Given the description of an element on the screen output the (x, y) to click on. 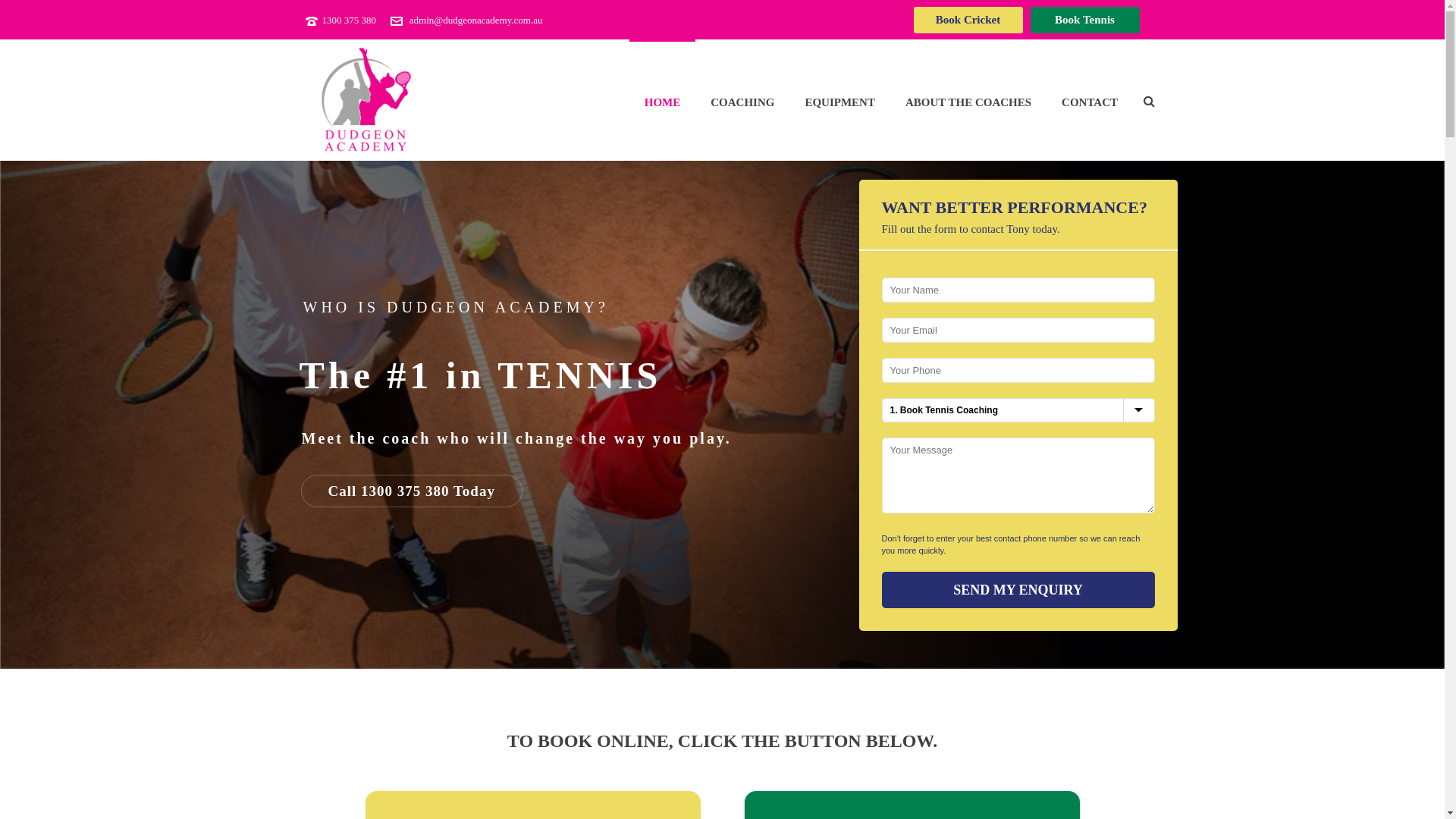
1300 375 380 Element type: text (348, 19)
COACHING Element type: text (742, 99)
Send My Enquiry Element type: text (1017, 589)
admin@dudgeonacademy.com.au Element type: text (475, 19)
Book Tennis Element type: text (1084, 19)
ABOUT THE COACHES Element type: text (968, 99)
EQUIPMENT Element type: text (839, 99)
Book Cricket Element type: text (967, 19)
HOME Element type: text (662, 99)
Tennis & Cricket Coaching Ashgrove & Bardon Element type: hover (365, 99)
CONTACT Element type: text (1089, 99)
